Given the description of an element on the screen output the (x, y) to click on. 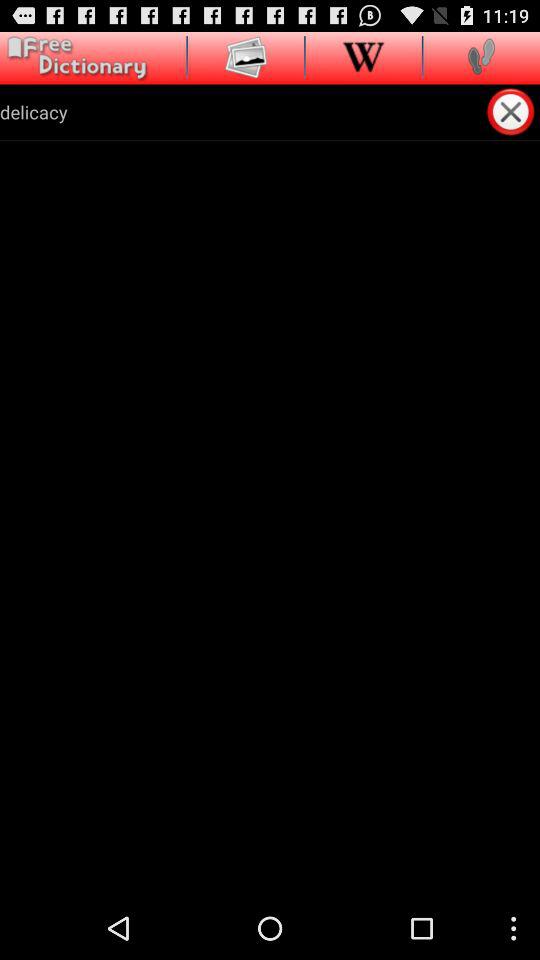
home screen (74, 58)
